Given the description of an element on the screen output the (x, y) to click on. 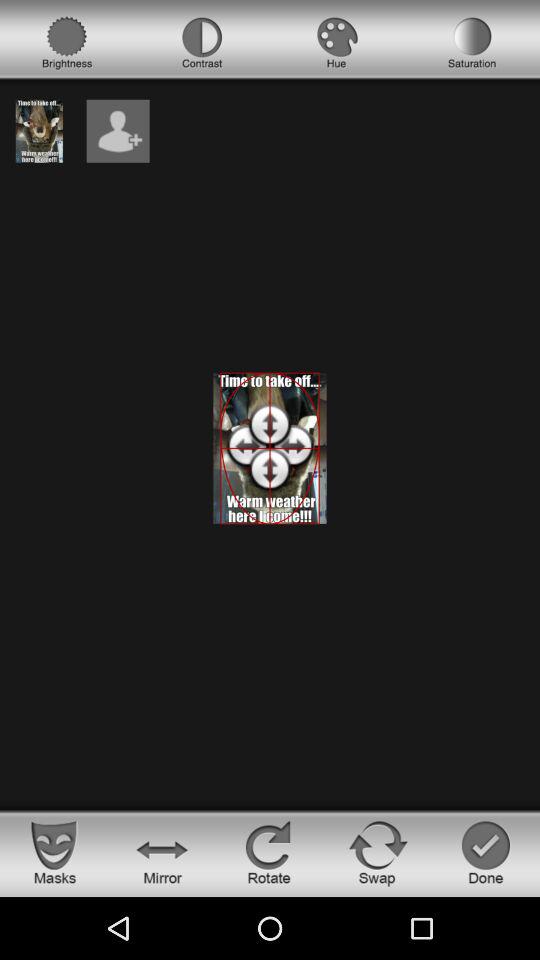
choose masks option (53, 852)
